Given the description of an element on the screen output the (x, y) to click on. 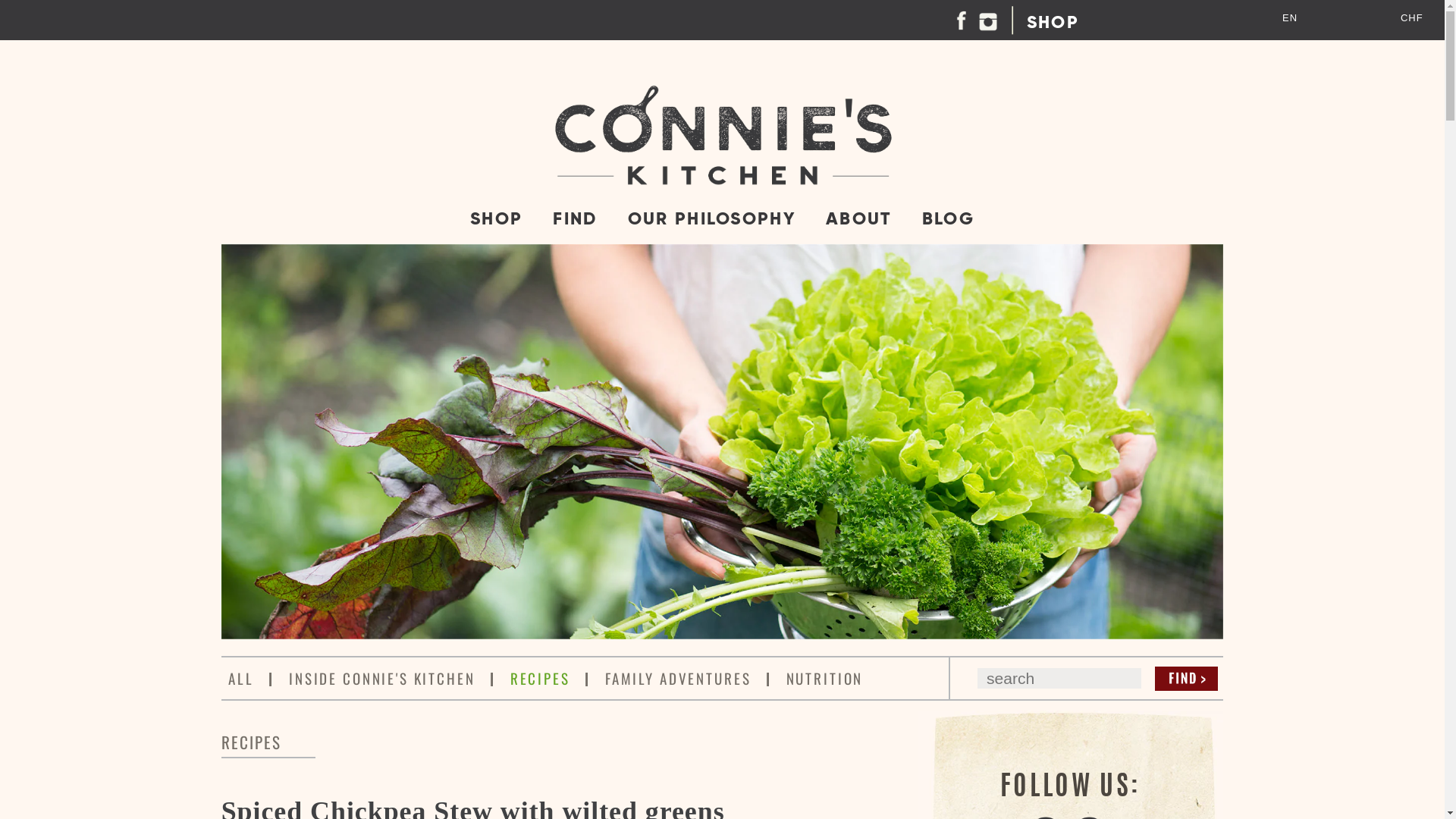
FAMILY ADVENTURES Element type: text (677, 678)
| Element type: text (270, 678)
OUR PHILOSOPHY Element type: text (712, 218)
NUTRITION Element type: text (824, 678)
| Element type: text (587, 678)
| Element type: text (768, 678)
RECIPES Element type: text (539, 678)
SHOP Element type: text (1052, 21)
ABOUT Element type: text (858, 218)
SHOP Element type: text (496, 218)
FIND Element type: text (574, 218)
ALL Element type: text (241, 678)
BLOG Element type: text (947, 218)
INSIDE CONNIE'S KITCHEN Element type: text (381, 678)
| Element type: text (492, 678)
